Given the description of an element on the screen output the (x, y) to click on. 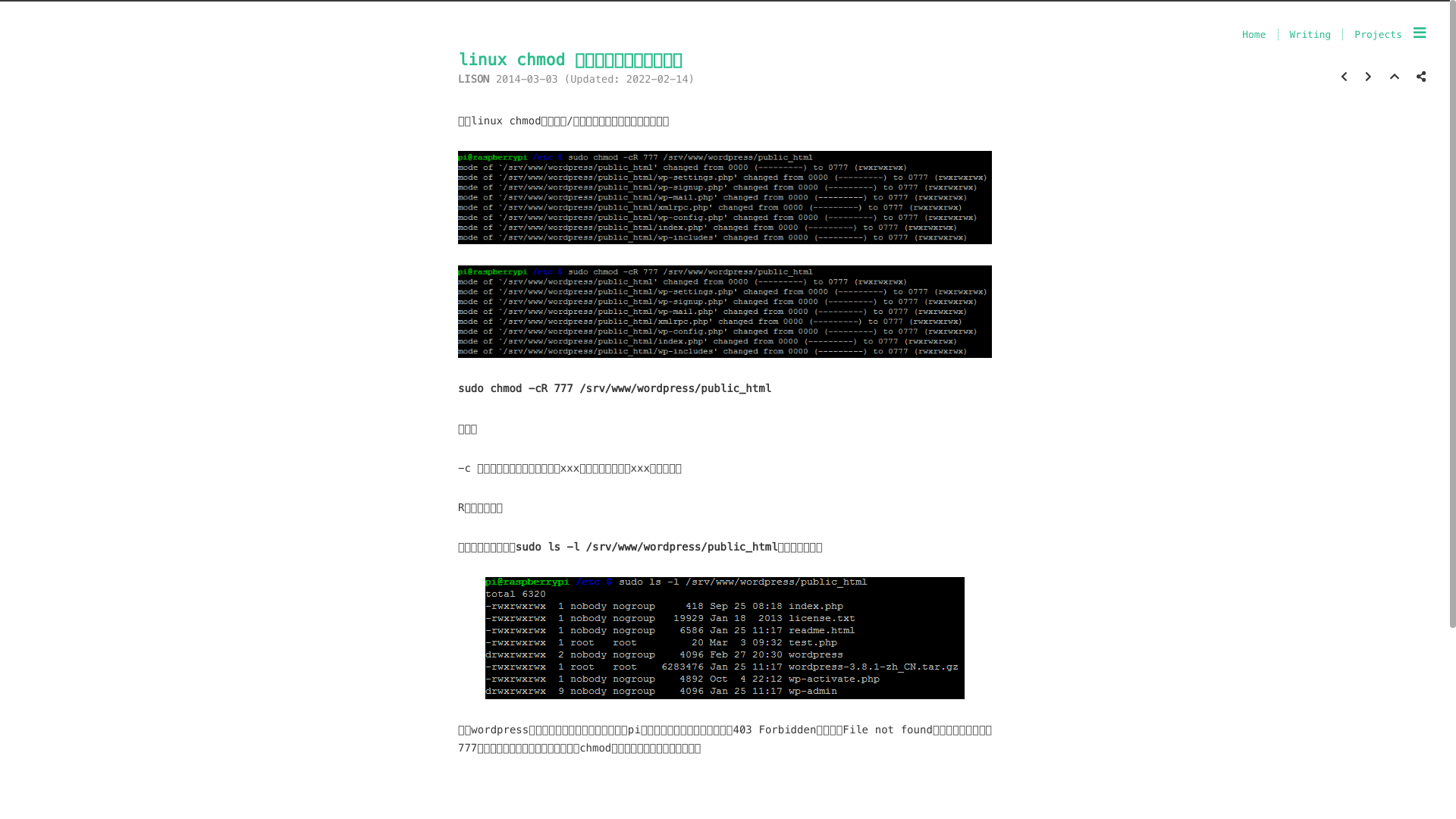
Projects Element type: text (1378, 34)
Writing Element type: text (1309, 34)
Home Element type: text (1253, 34)
